Given the description of an element on the screen output the (x, y) to click on. 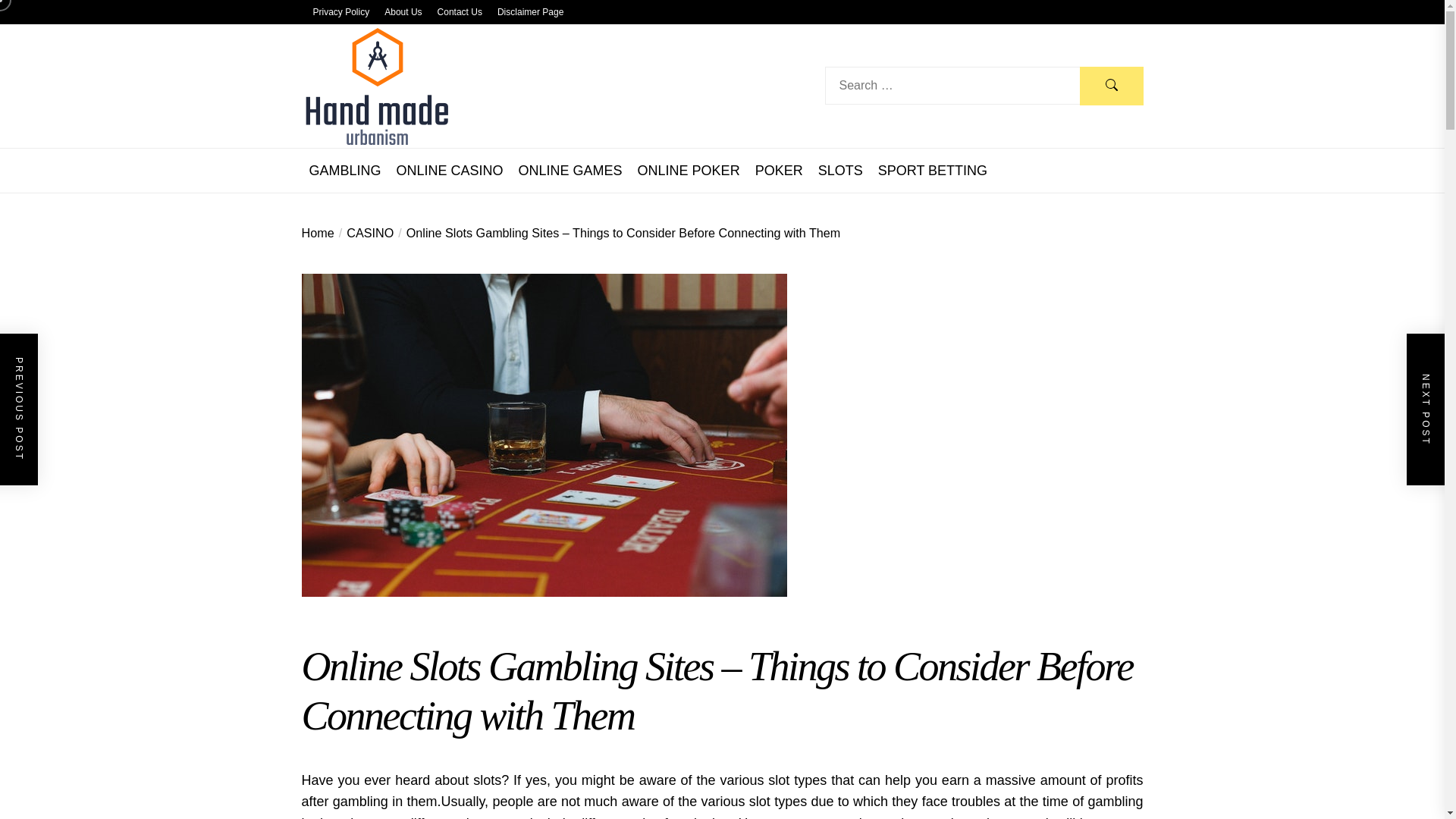
SLOTS (840, 170)
ONLINE GAMES (570, 170)
POKER (779, 170)
Contact Us (459, 12)
ONLINE POKER (688, 170)
Privacy Policy (341, 12)
ONLINE CASINO (449, 170)
CASINO (364, 232)
Home (317, 232)
About Us (403, 12)
SPORT BETTING (932, 170)
GAMBLING (344, 170)
Disclaimer Page (530, 12)
